Given the description of an element on the screen output the (x, y) to click on. 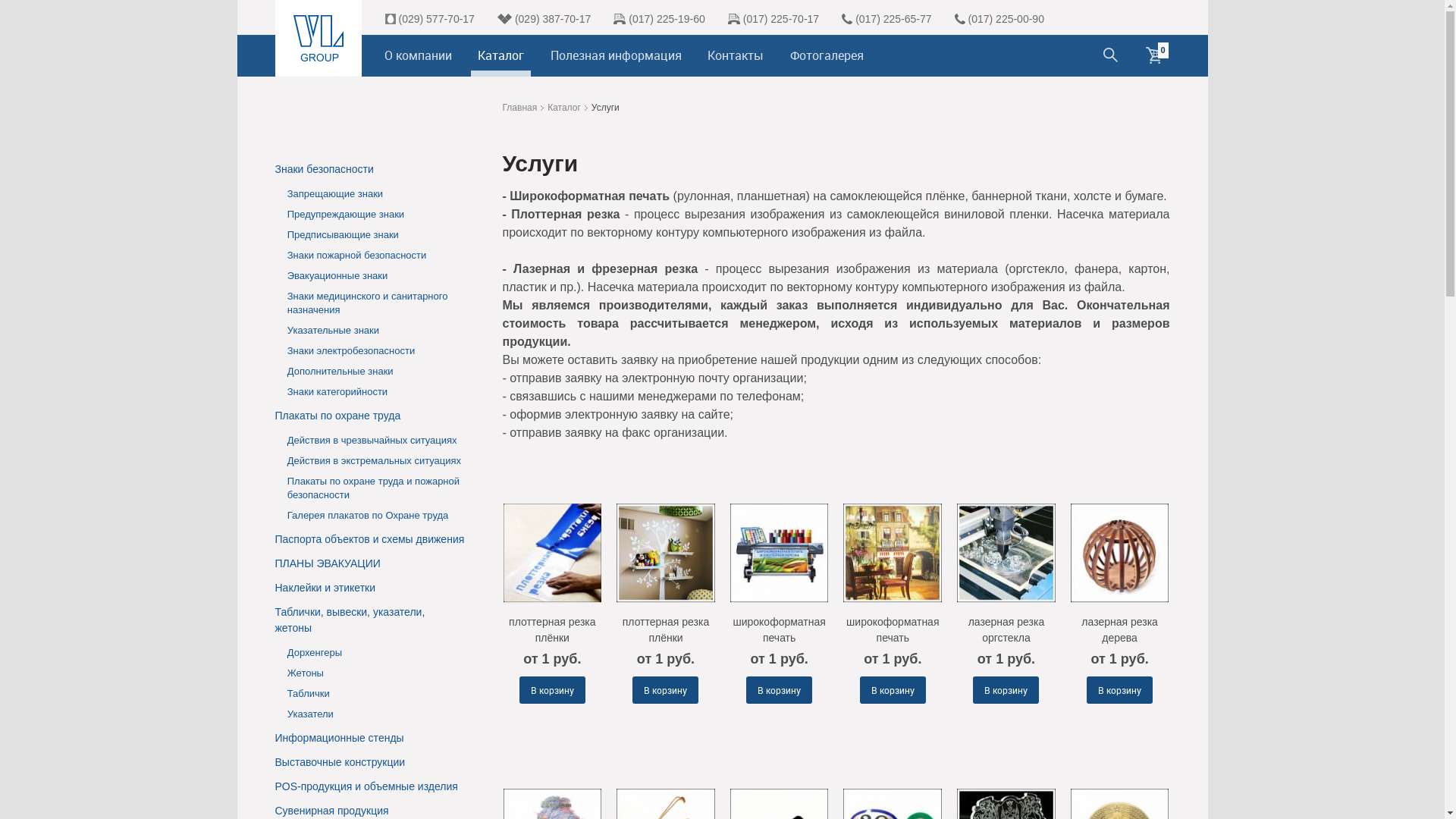
(029) 577-70-17 Element type: text (436, 18)
(017) 225-19-60 Element type: text (666, 18)
VL Group Element type: hover (317, 38)
(017) 225-00-90 Element type: text (1006, 18)
(029) 387-70-17 Element type: text (552, 18)
(017) 225-70-17 Element type: text (781, 18)
(017) 225-65-77 Element type: text (893, 18)
